Given the description of an element on the screen output the (x, y) to click on. 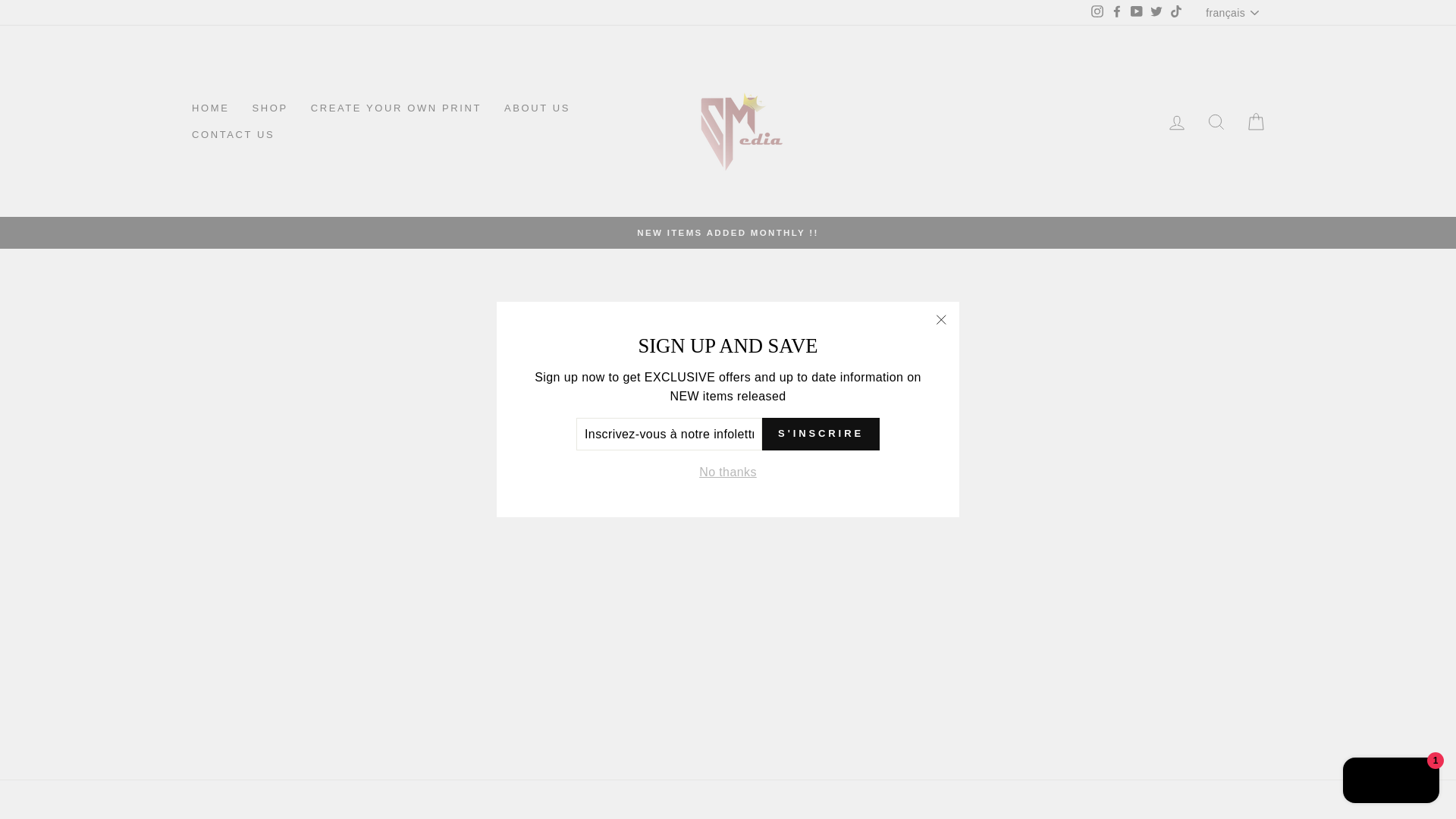
Chat de la boutique en ligne Shopify (1391, 781)
RECHERCHER (1216, 121)
SE CONNECTER (1176, 121)
CREATE YOUR OWN PRINT (396, 108)
HOME (210, 108)
Retourner au magasinage (725, 439)
ABOUT US (536, 108)
SHOP (269, 108)
CONTACT US (232, 135)
PANIER (1255, 121)
